Given the description of an element on the screen output the (x, y) to click on. 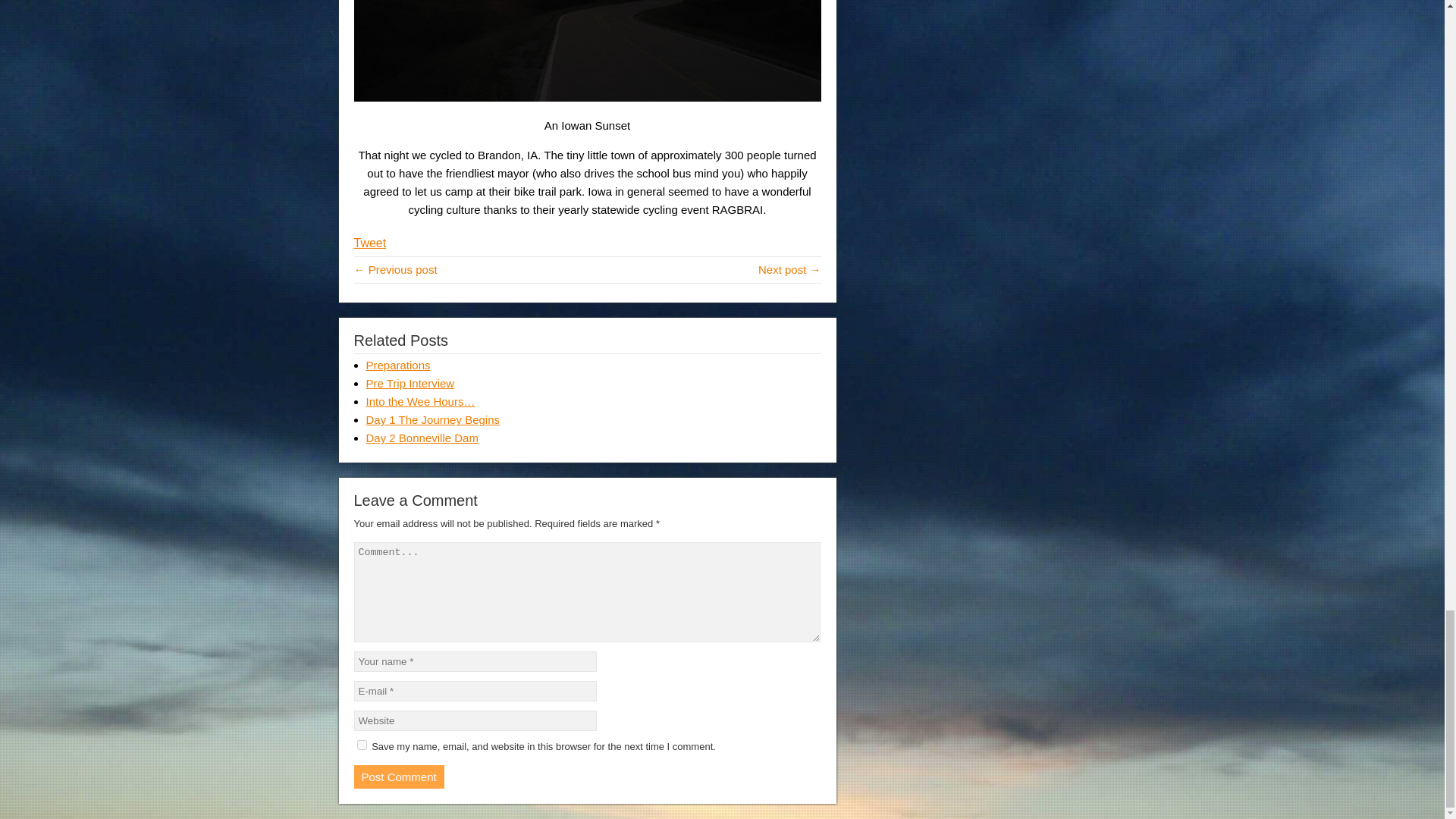
Day 1 The Journey Begins (432, 419)
Day 49 Americana (394, 269)
Post Comment (398, 776)
Preparations (397, 364)
Pre Trip Interview (409, 382)
Day 47 Attack Dog (789, 269)
Tweet (369, 242)
yes (361, 745)
Iowan Sunset (587, 51)
Day 2 Bonneville Dam (421, 437)
Post Comment (398, 776)
